Given the description of an element on the screen output the (x, y) to click on. 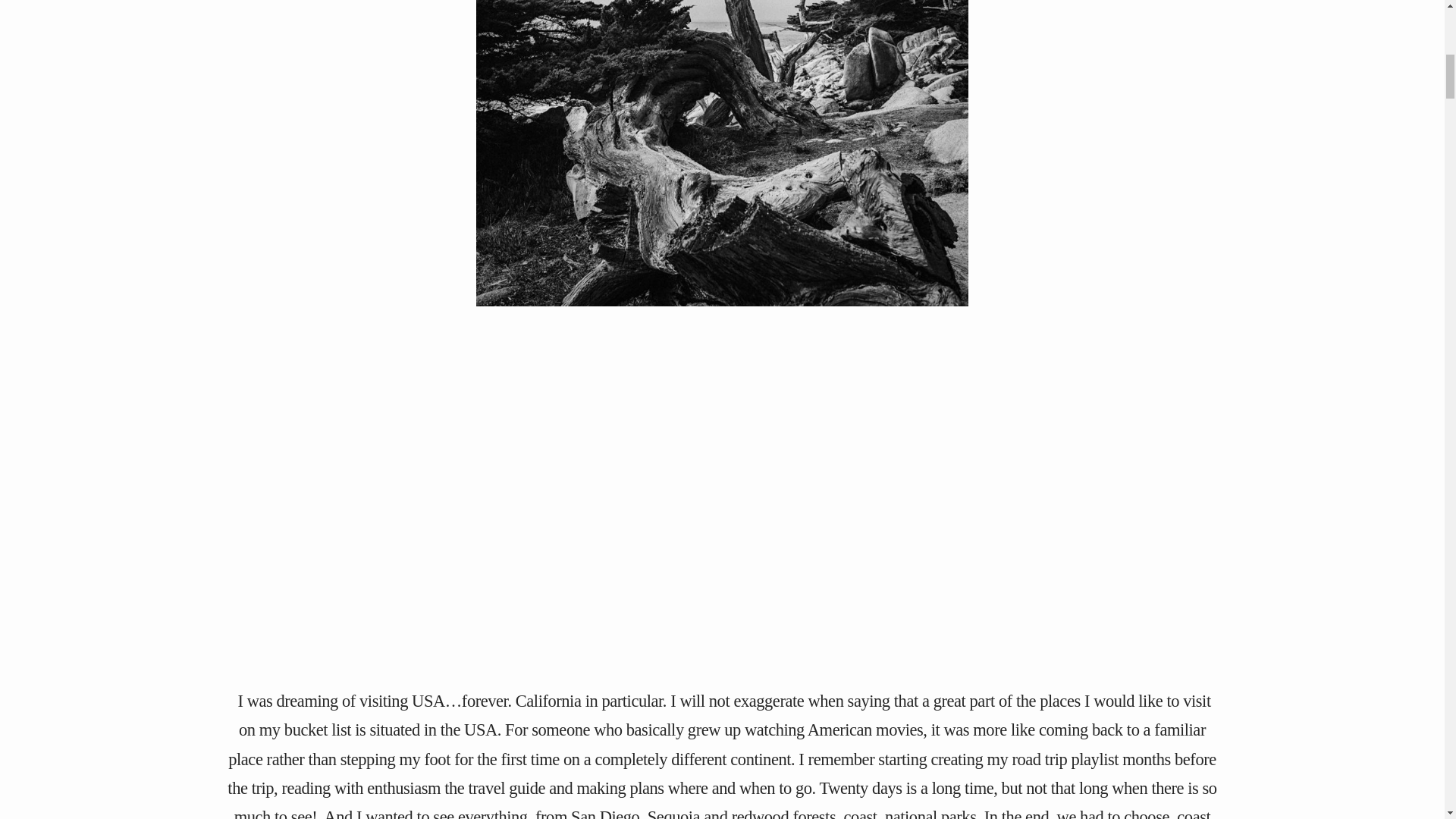
Sequoia (673, 813)
redwood (760, 813)
